Given the description of an element on the screen output the (x, y) to click on. 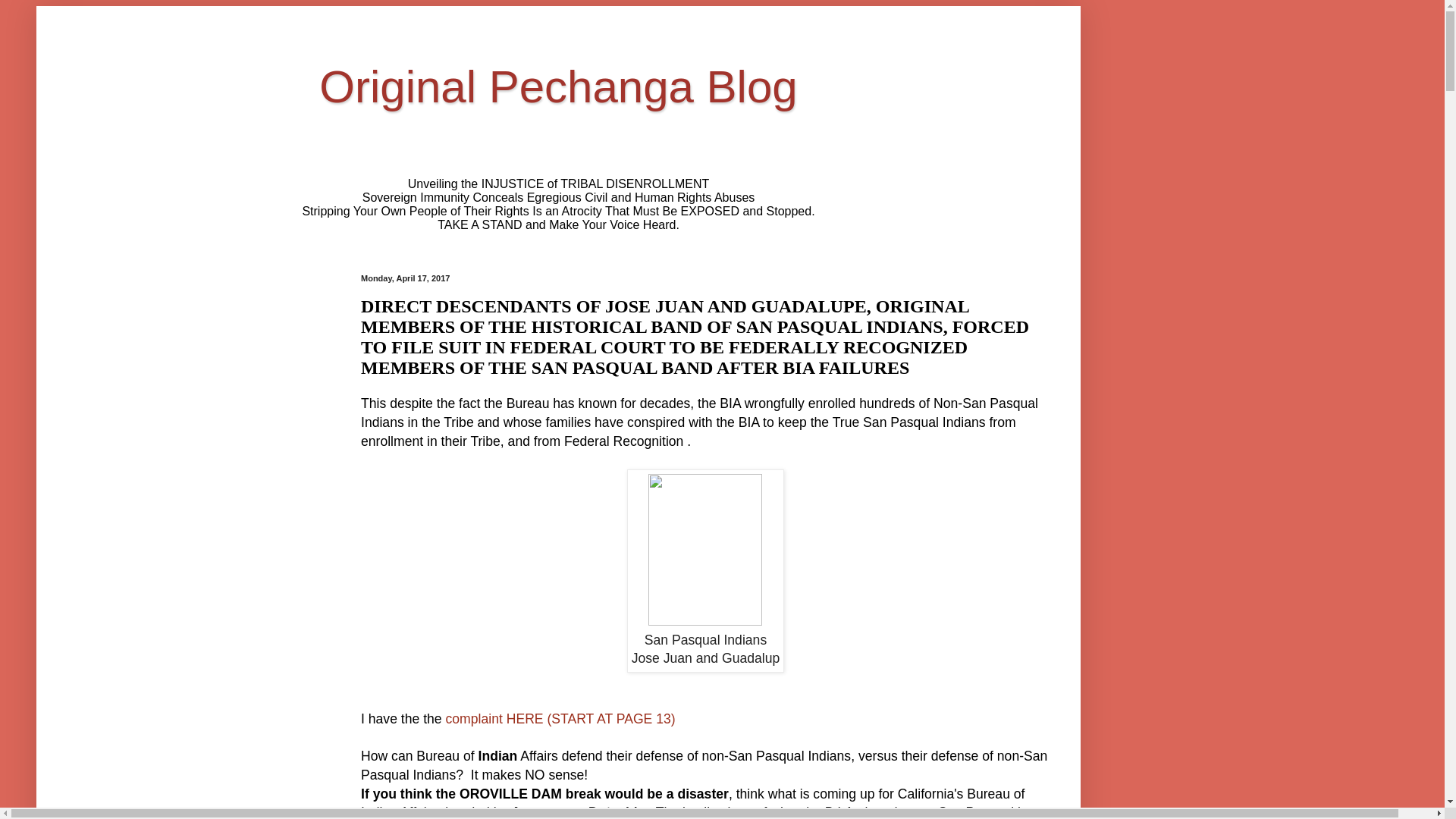
Original Pechanga Blog (557, 86)
